Given the description of an element on the screen output the (x, y) to click on. 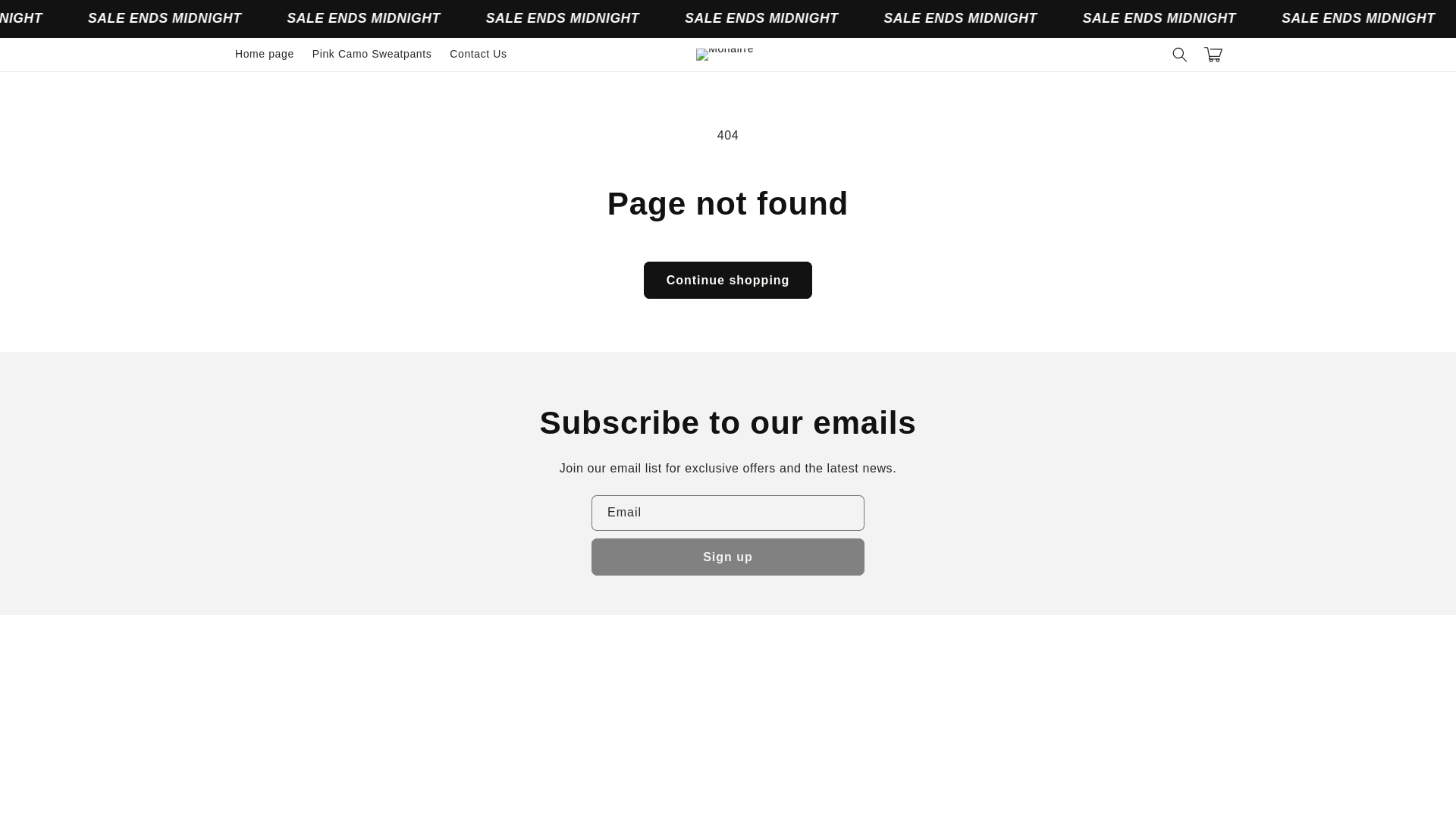
Home page (263, 53)
Continue shopping (727, 279)
Cart (1213, 54)
Skip to content (46, 18)
Pink Camo Sweatpants (371, 53)
Contact Us (478, 53)
Sign up (727, 556)
